Given the description of an element on the screen output the (x, y) to click on. 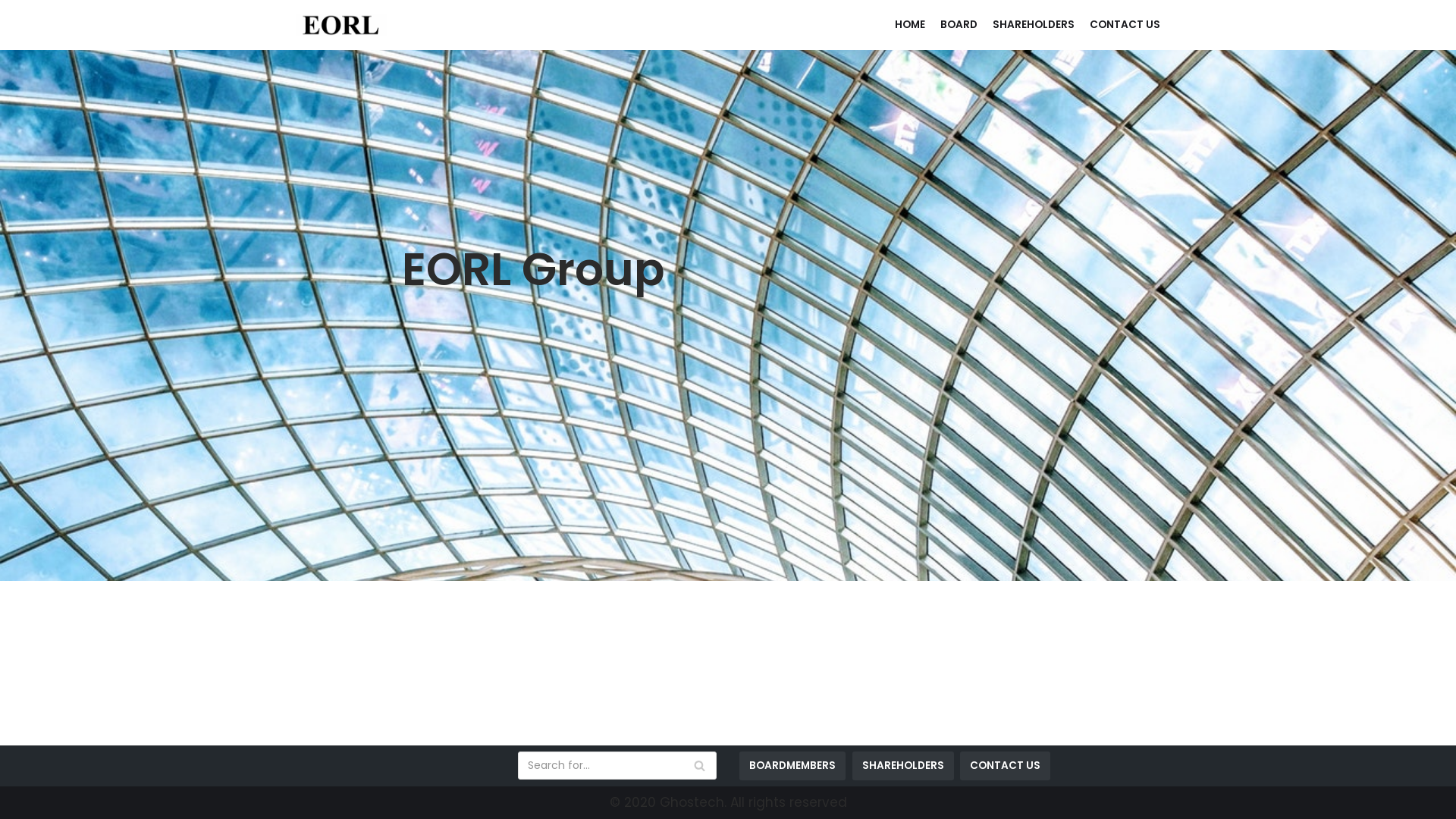
BOARD Element type: text (958, 24)
CONTACT US Element type: text (1005, 765)
Skip to content Element type: text (15, 7)
BOARDMEMBERS Element type: text (792, 765)
SHAREHOLDERS Element type: text (902, 765)
SHAREHOLDERS Element type: text (1033, 24)
EORL Element type: hover (340, 24)
HOME Element type: text (909, 24)
CONTACT US Element type: text (1124, 24)
